Given the description of an element on the screen output the (x, y) to click on. 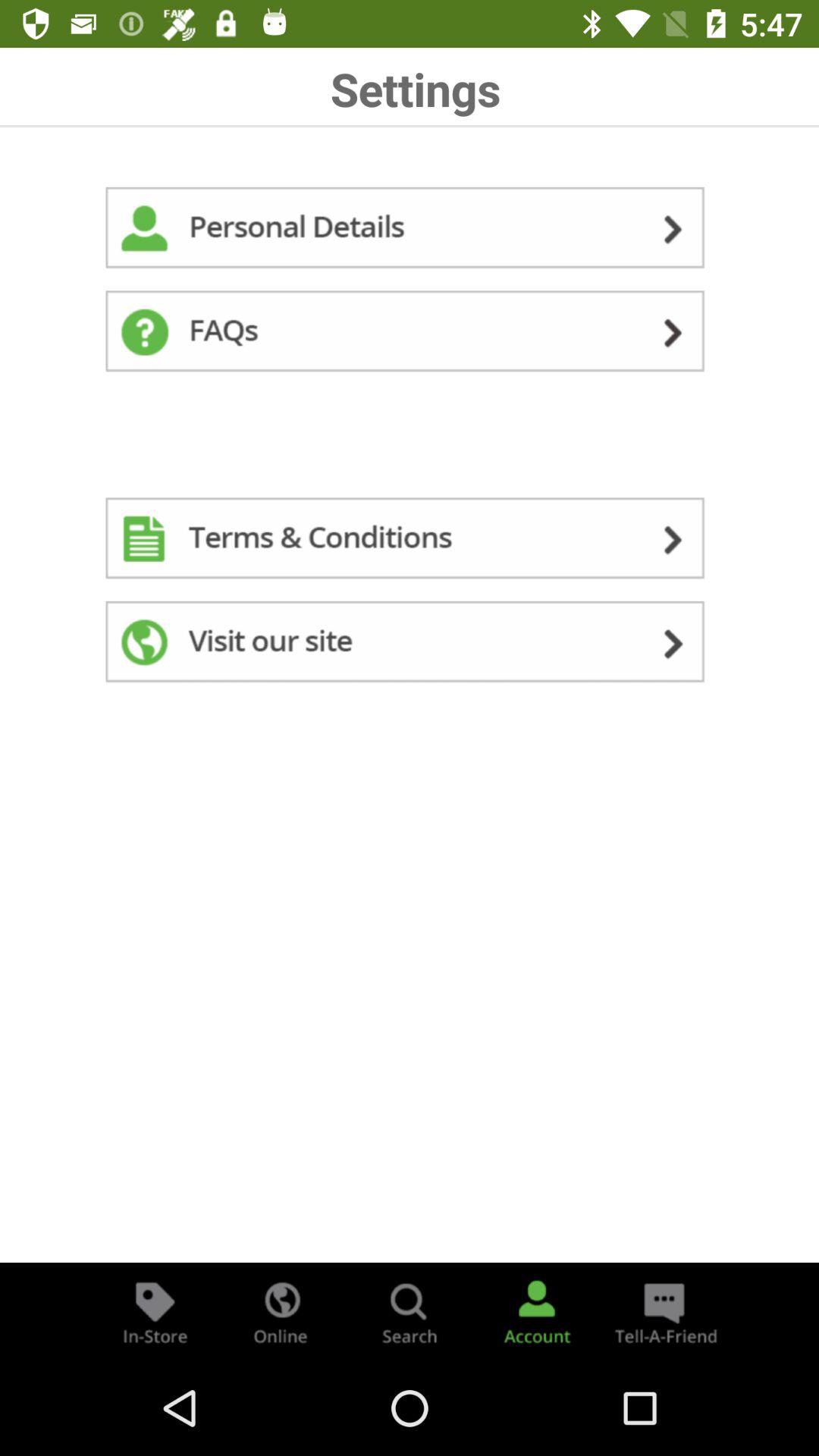
visit site (409, 644)
